Given the description of an element on the screen output the (x, y) to click on. 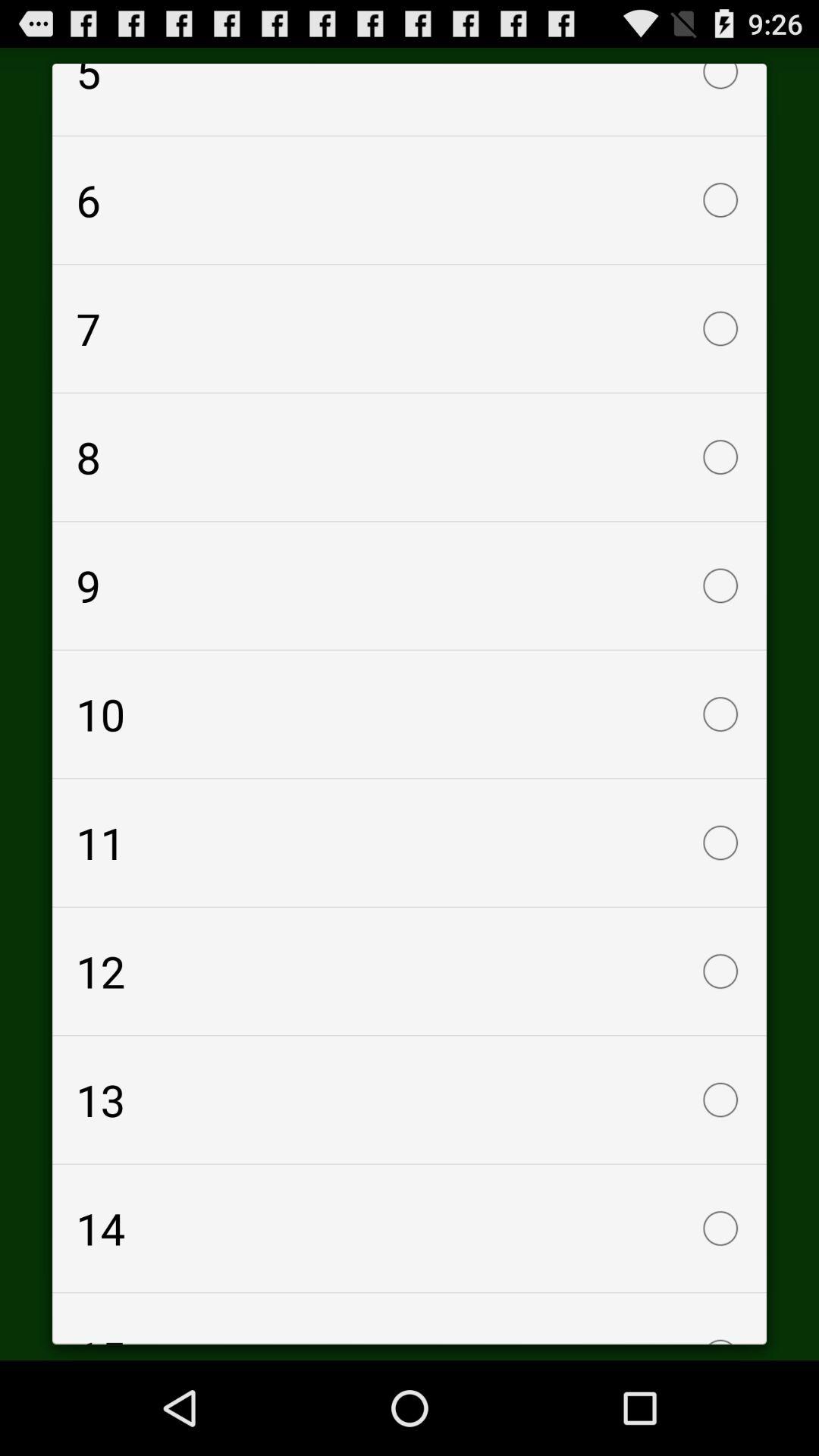
select the item below the 13 icon (409, 1228)
